Given the description of an element on the screen output the (x, y) to click on. 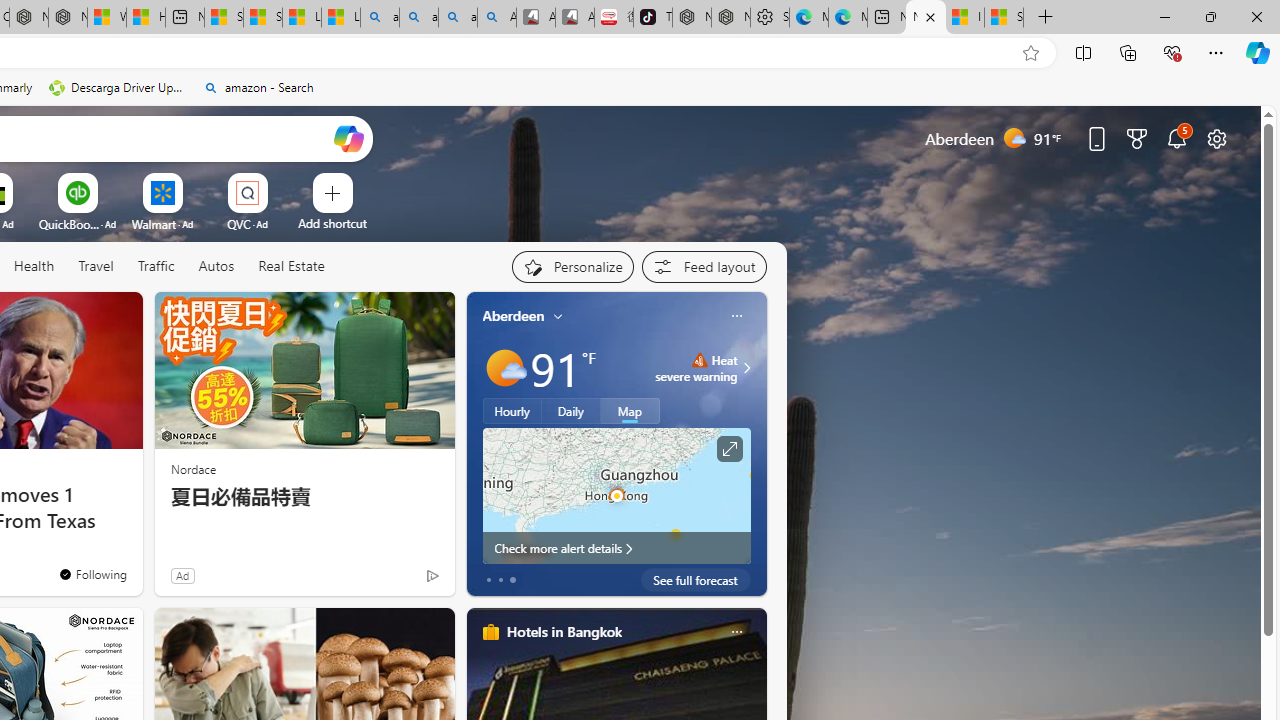
My location (558, 315)
Map (630, 411)
Hourly (511, 411)
Heat - Severe (699, 359)
